Given the description of an element on the screen output the (x, y) to click on. 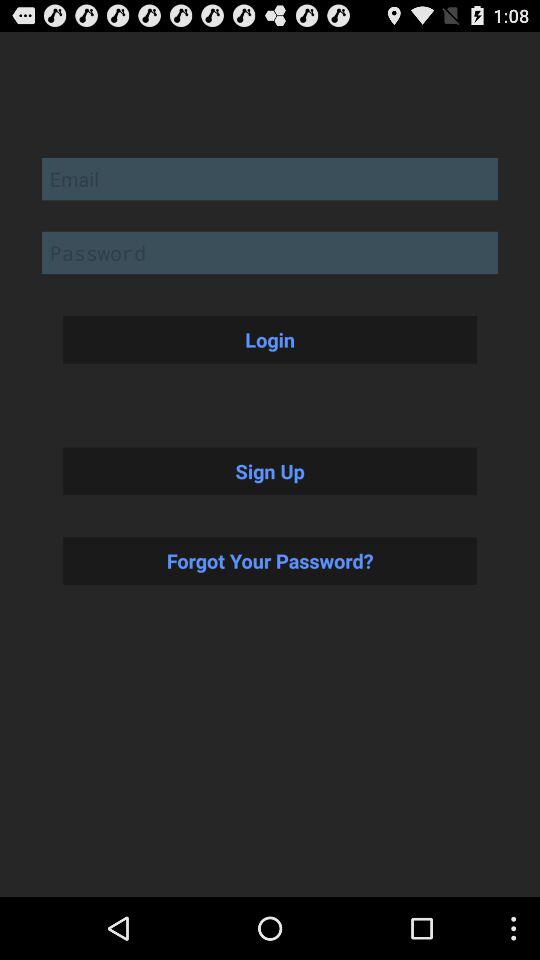
enter email (270, 178)
